Given the description of an element on the screen output the (x, y) to click on. 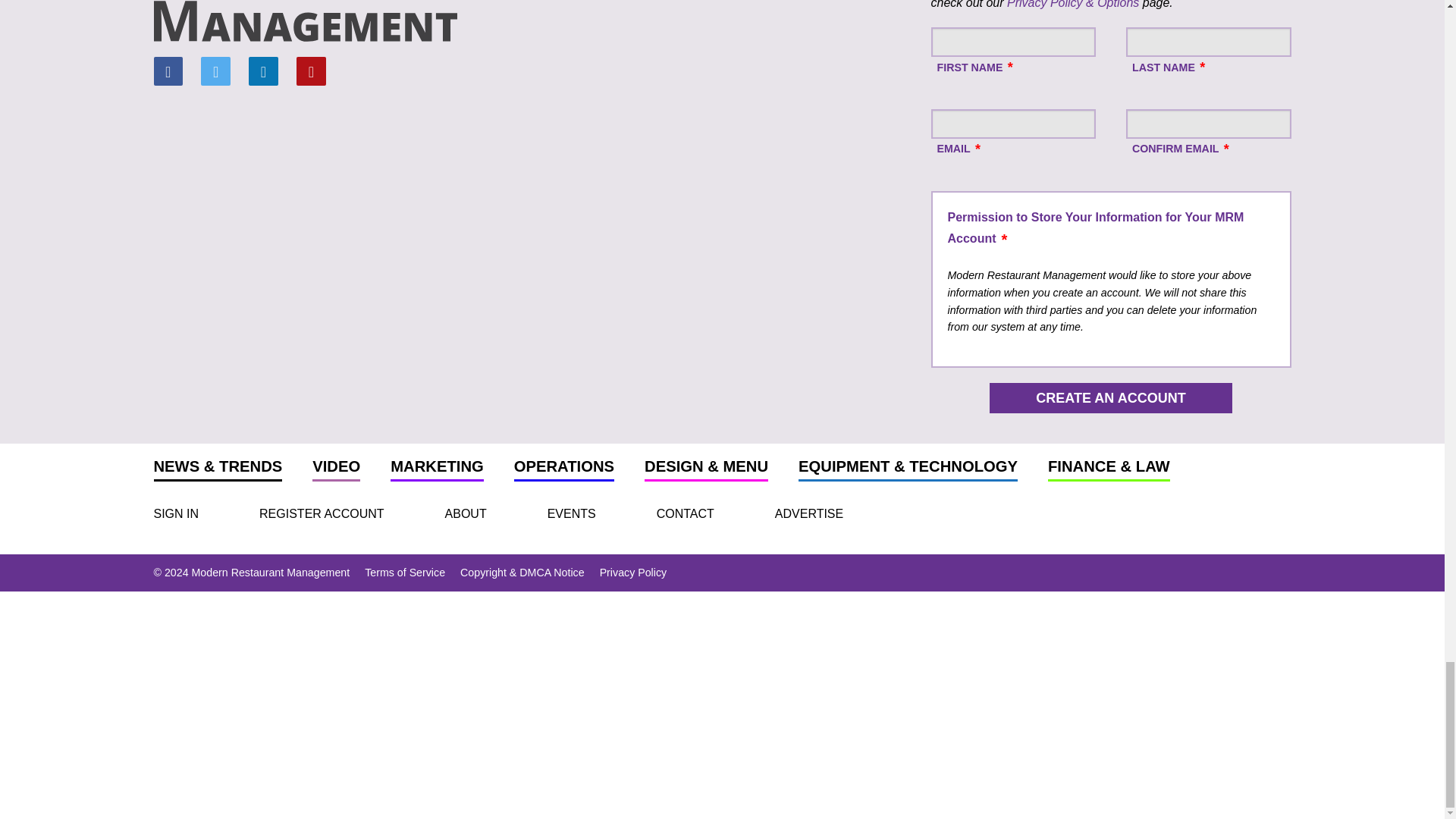
Create an Account (1110, 398)
Linkedin (263, 70)
Twitter (215, 70)
Facebook (167, 70)
Youtube (310, 70)
Create an Account (1110, 398)
